Given the description of an element on the screen output the (x, y) to click on. 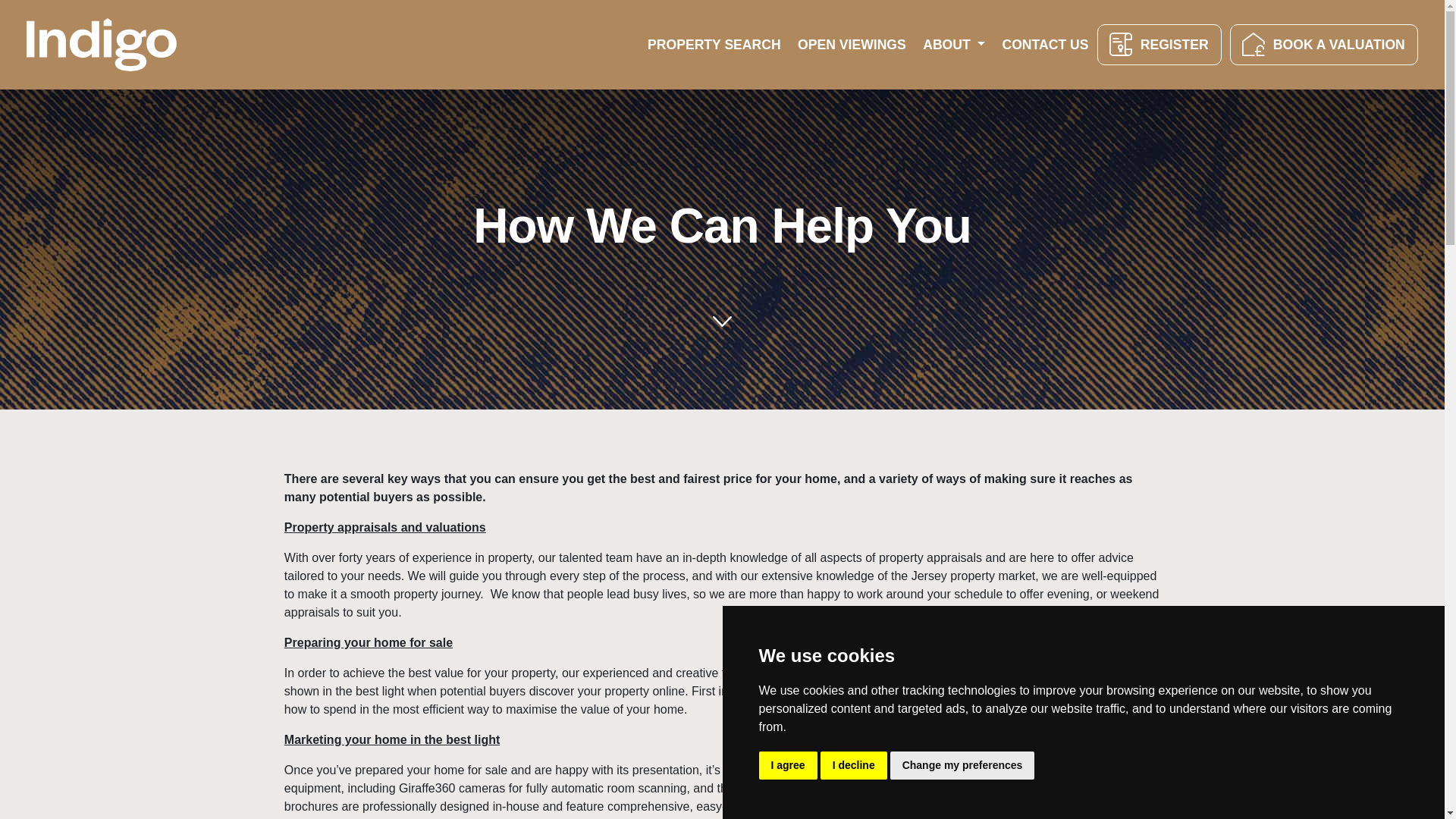
Change my preferences (962, 765)
PROPERTY SEARCH (714, 44)
I agree (787, 765)
REGISTER (1159, 44)
CONTACT US (1044, 44)
BOOK A VALUATION (1324, 44)
OPEN VIEWINGS (851, 44)
I decline (853, 765)
ABOUT (953, 44)
